Given the description of an element on the screen output the (x, y) to click on. 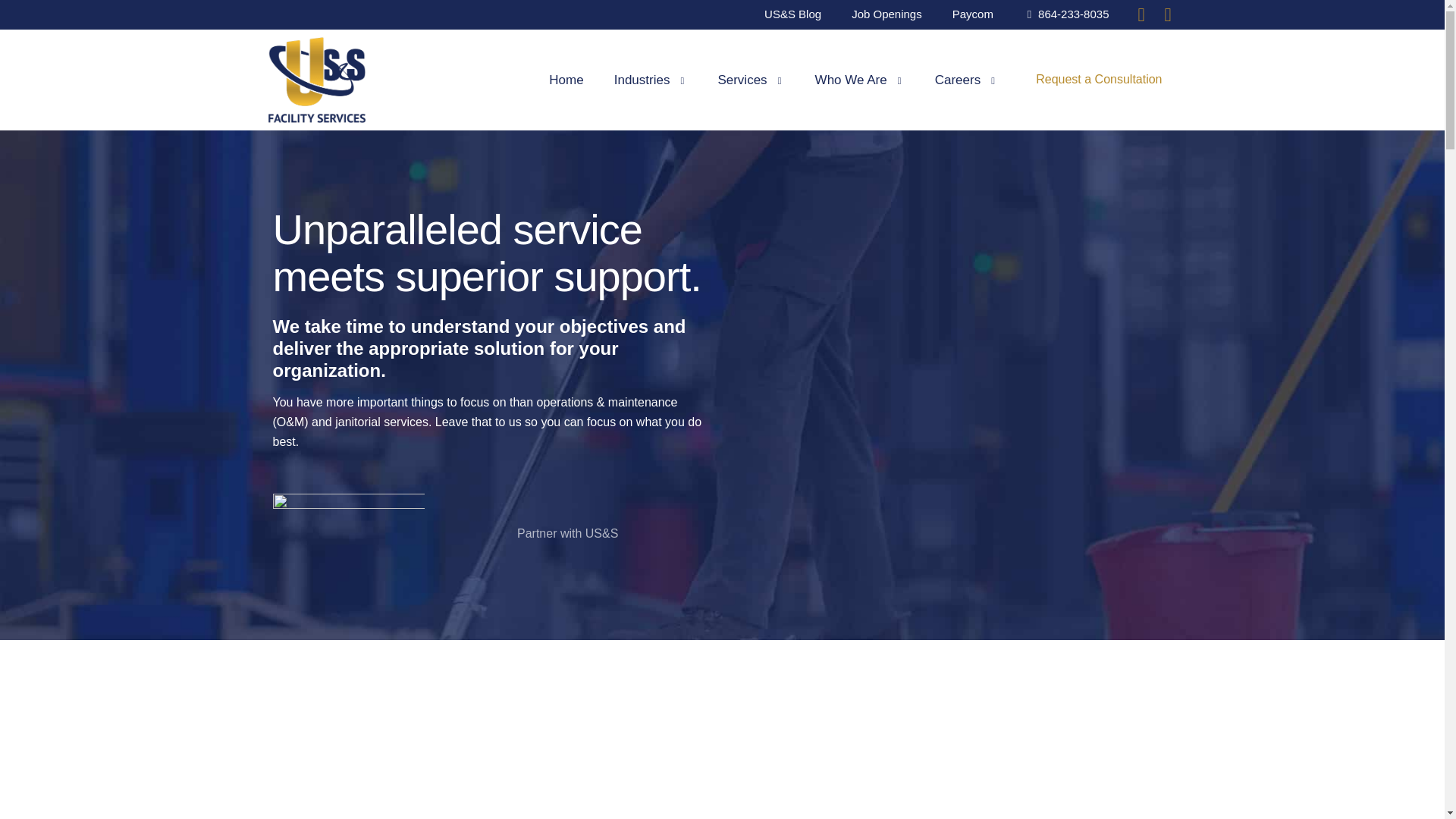
Home (566, 80)
864-233-8035 (1066, 14)
Job Openings (886, 14)
Services (750, 80)
Who We Are (859, 80)
Industries (650, 80)
Paycom (973, 14)
